Given the description of an element on the screen output the (x, y) to click on. 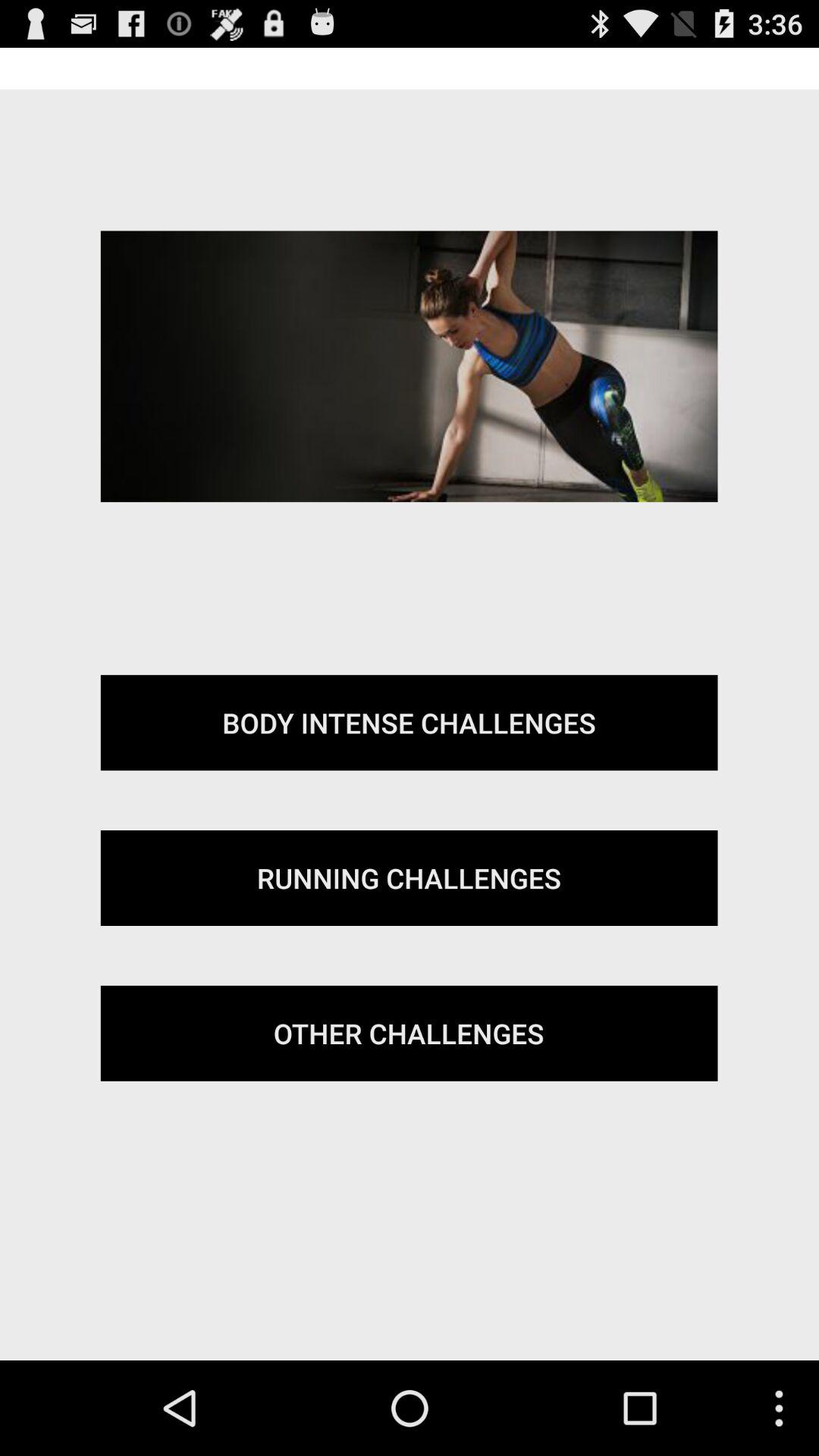
scroll until body intense challenges button (408, 722)
